Given the description of an element on the screen output the (x, y) to click on. 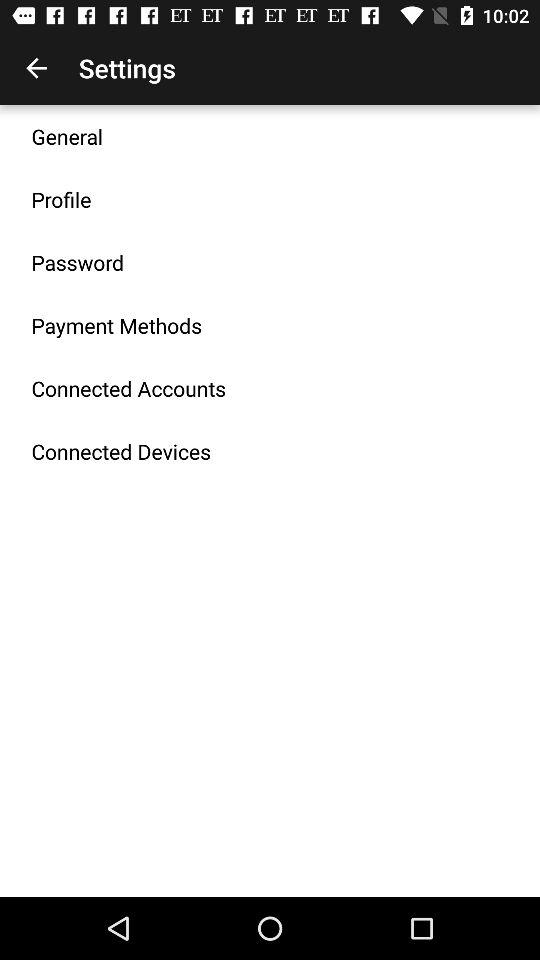
swipe to payment methods icon (116, 325)
